Given the description of an element on the screen output the (x, y) to click on. 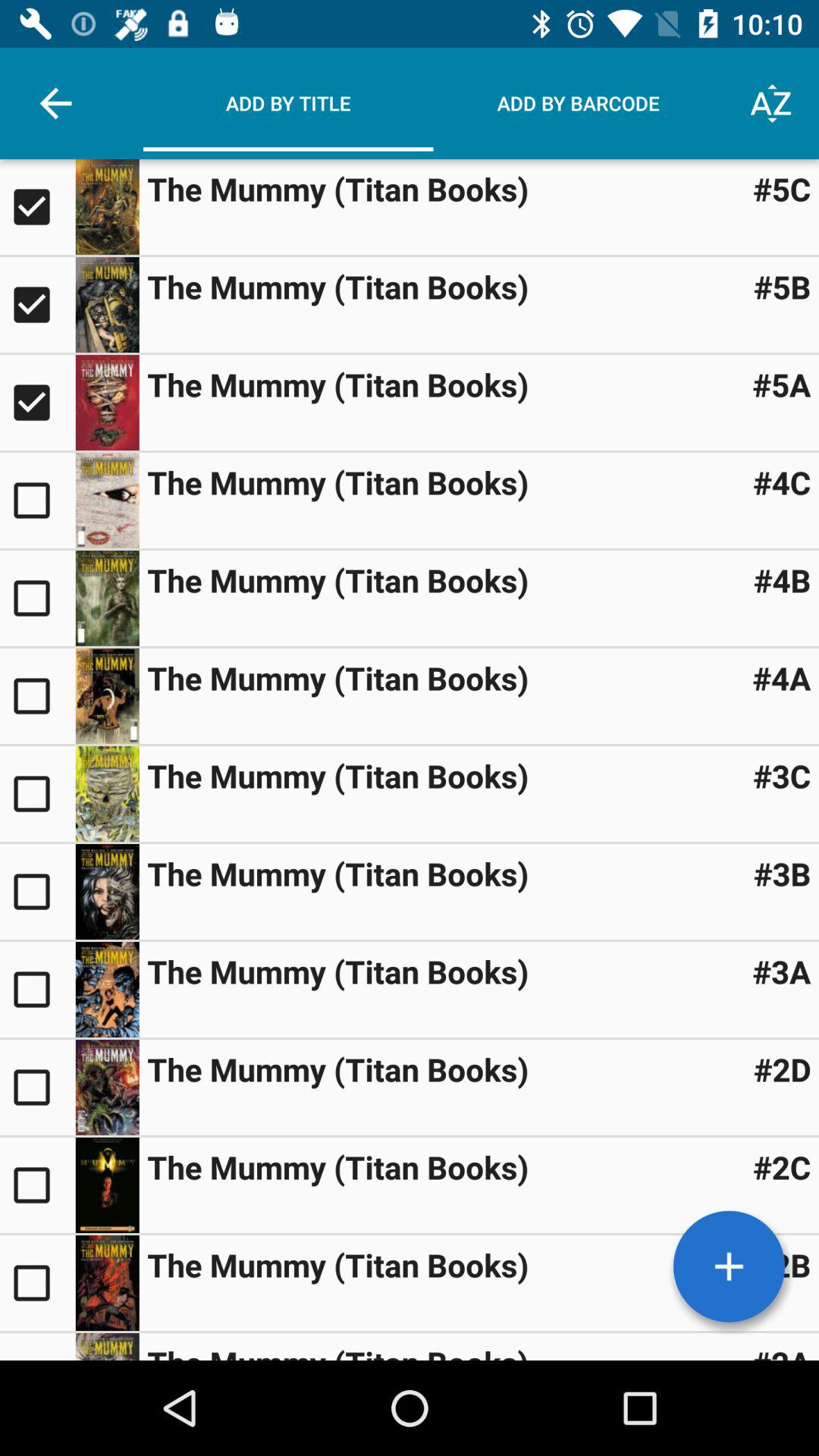
mark the selection (37, 1346)
